Given the description of an element on the screen output the (x, y) to click on. 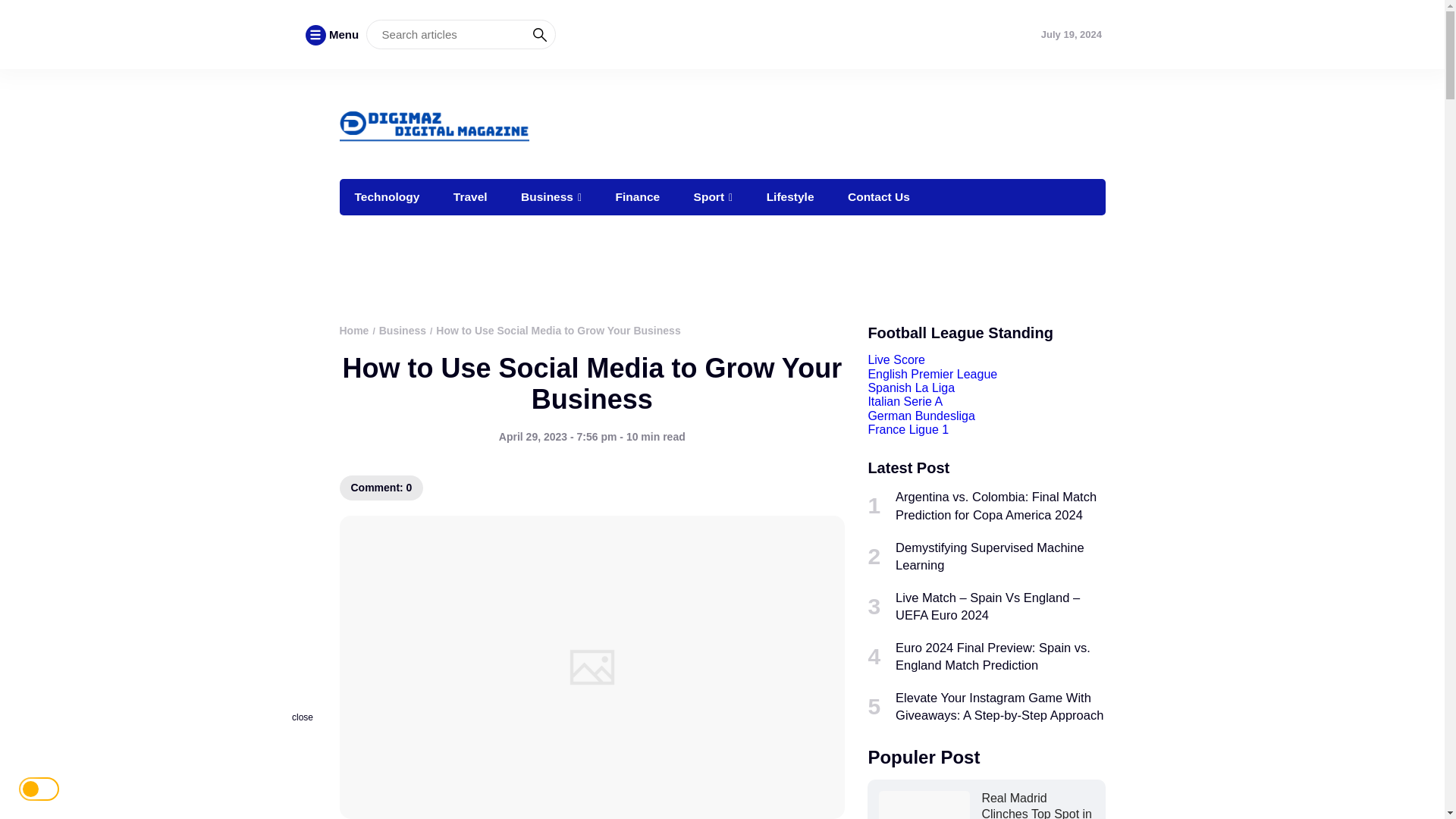
Travel (470, 197)
Business (550, 197)
Advertisement (829, 121)
Advertisement (439, 776)
Advertisement (741, 264)
Technology (387, 197)
